Given the description of an element on the screen output the (x, y) to click on. 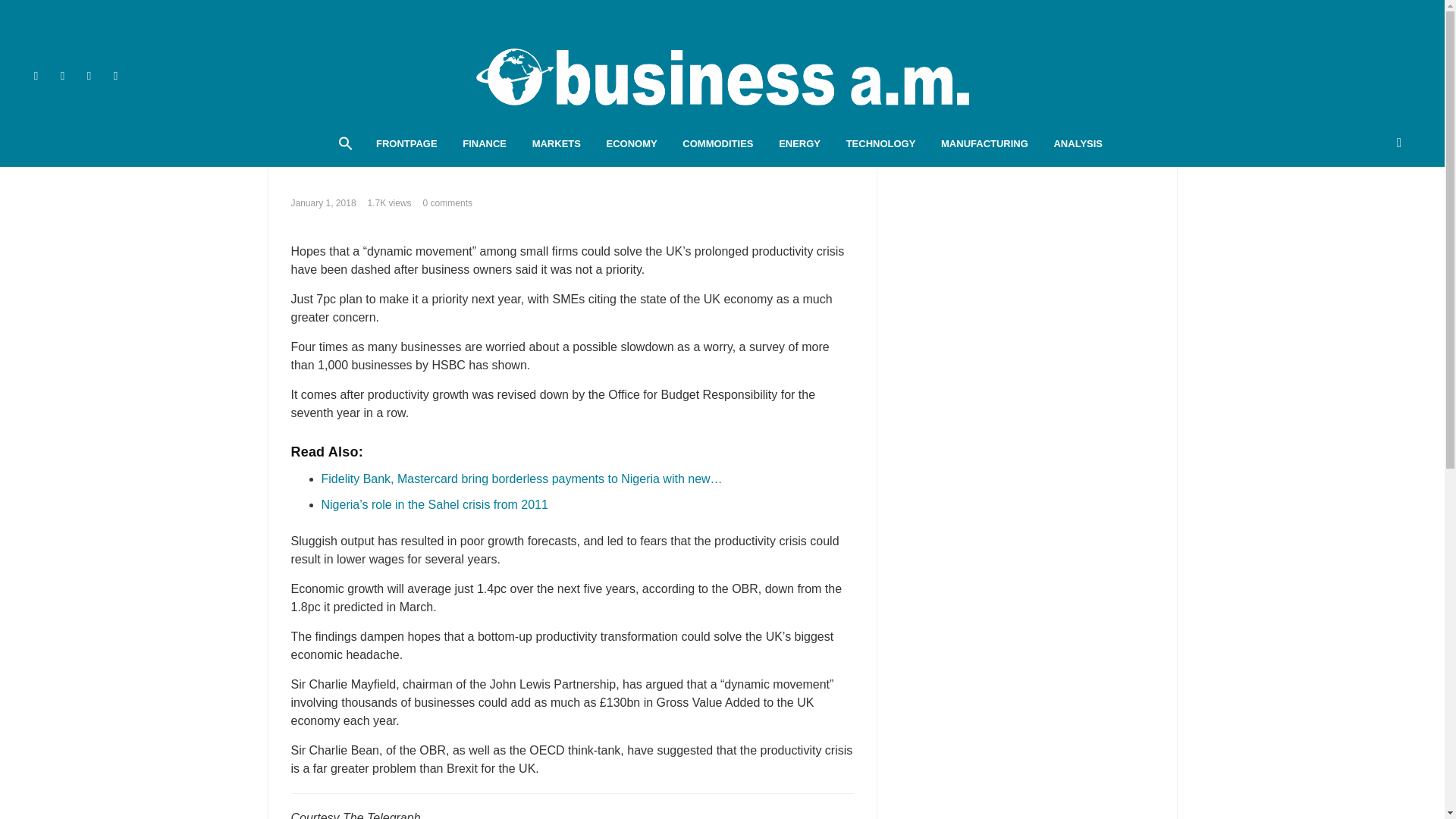
youtube (88, 75)
FRONTPAGE (406, 144)
twitter (62, 75)
Instagram (142, 75)
FINANCE (484, 144)
facebook (36, 75)
email (115, 75)
Businessamlive (722, 76)
